Given the description of an element on the screen output the (x, y) to click on. 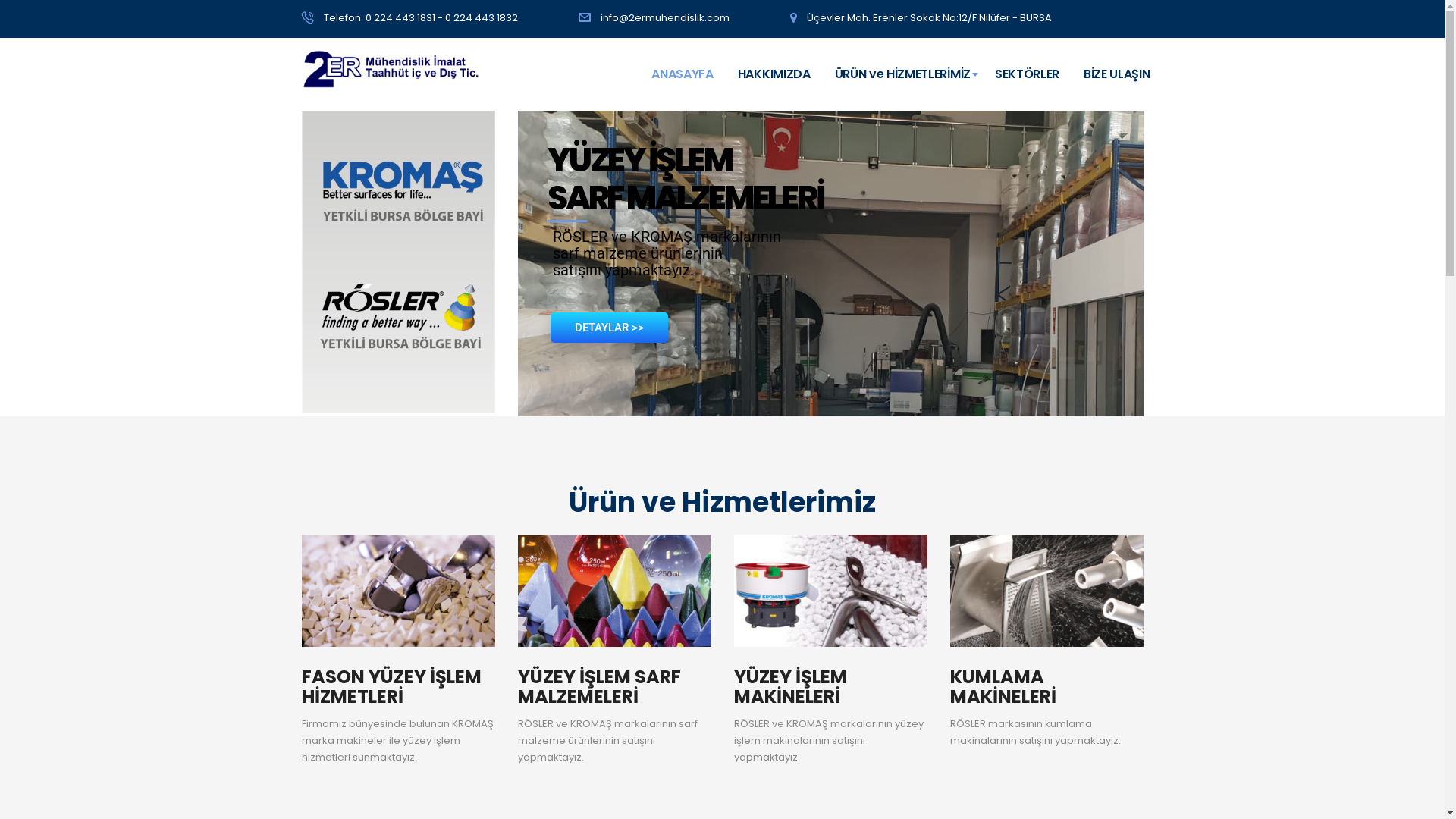
daha fazla oku Element type: text (613, 650)
daha fazla oku Element type: text (398, 650)
bayi2 Element type: hover (398, 261)
HAKKIMIZDA Element type: text (773, 74)
ANASAYFA Element type: text (681, 74)
DETAYLAR >> Element type: text (609, 327)
info@2ermuhendislik.com Element type: text (664, 17)
